Given the description of an element on the screen output the (x, y) to click on. 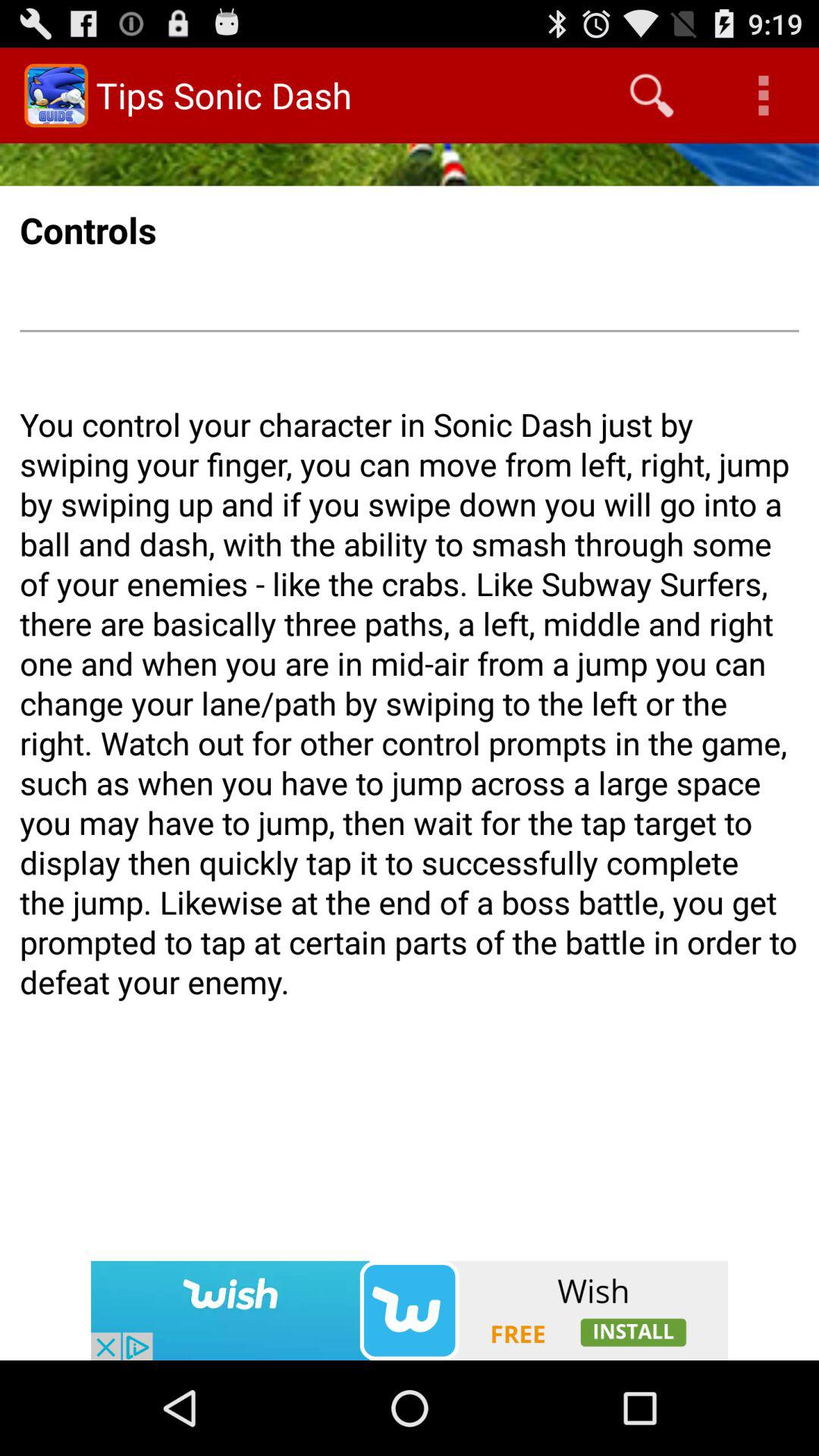
share the article (409, 1310)
